Given the description of an element on the screen output the (x, y) to click on. 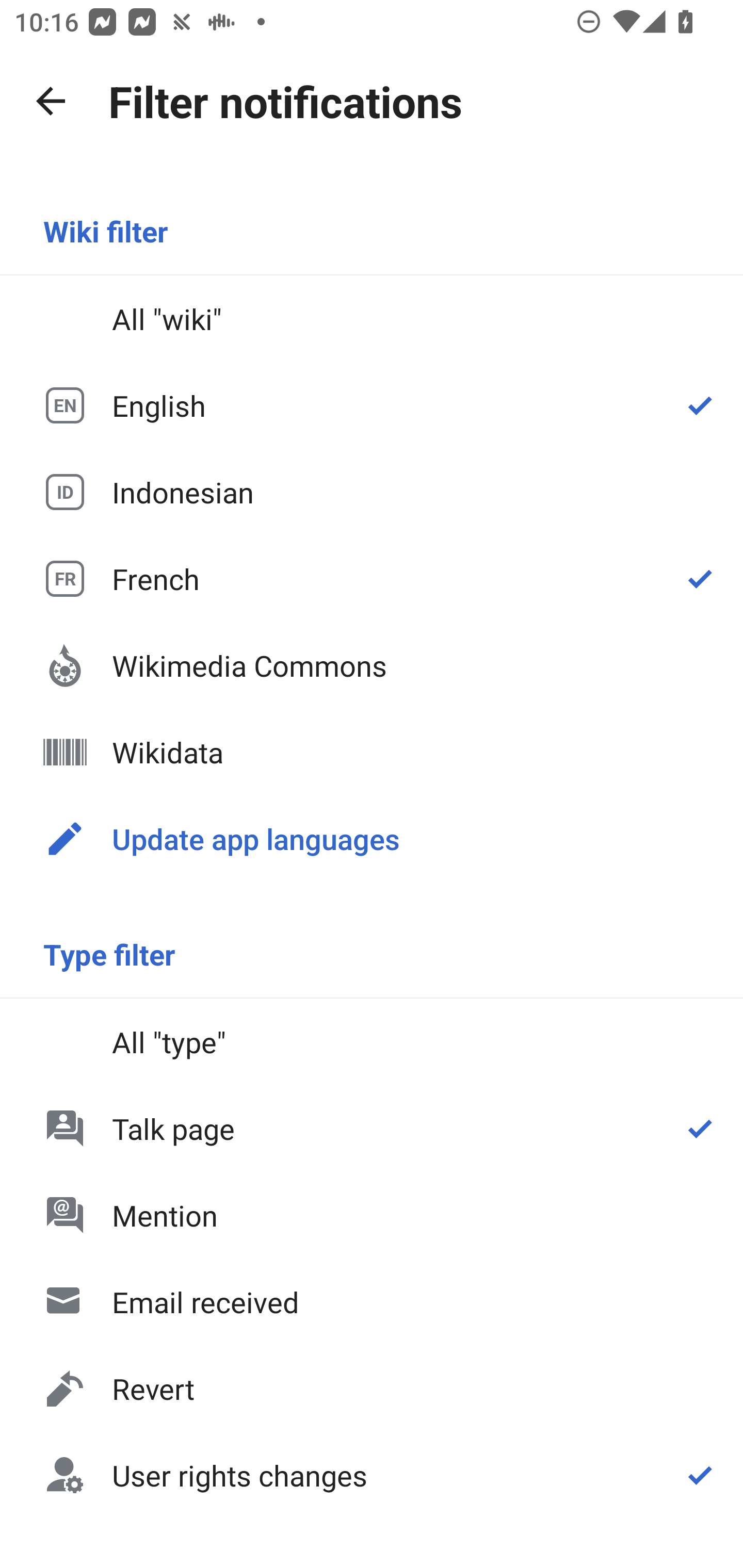
Navigate up (50, 101)
All "wiki" (371, 318)
EN English (371, 405)
ID Indonesian (371, 491)
FR French (371, 578)
Wikimedia Commons (371, 665)
Wikidata (371, 751)
Update app languages (371, 837)
All "type" (371, 1041)
Talk page (371, 1128)
Mention (371, 1215)
Email received (371, 1302)
Revert (371, 1388)
User rights changes (371, 1474)
